Given the description of an element on the screen output the (x, y) to click on. 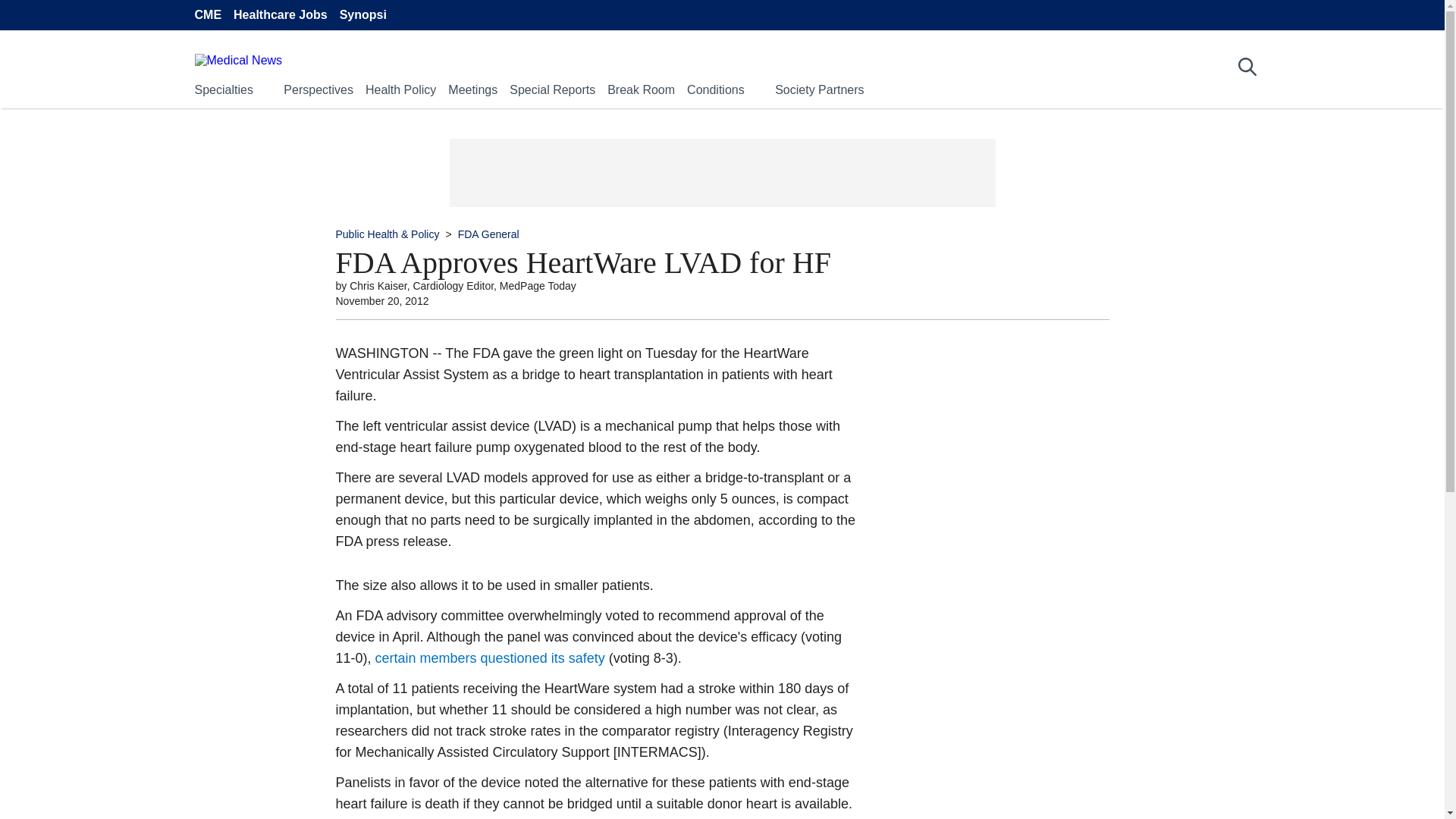
CME (207, 15)
Healthcare Jobs (279, 15)
Synopsi (363, 15)
Specialties (222, 89)
